Given the description of an element on the screen output the (x, y) to click on. 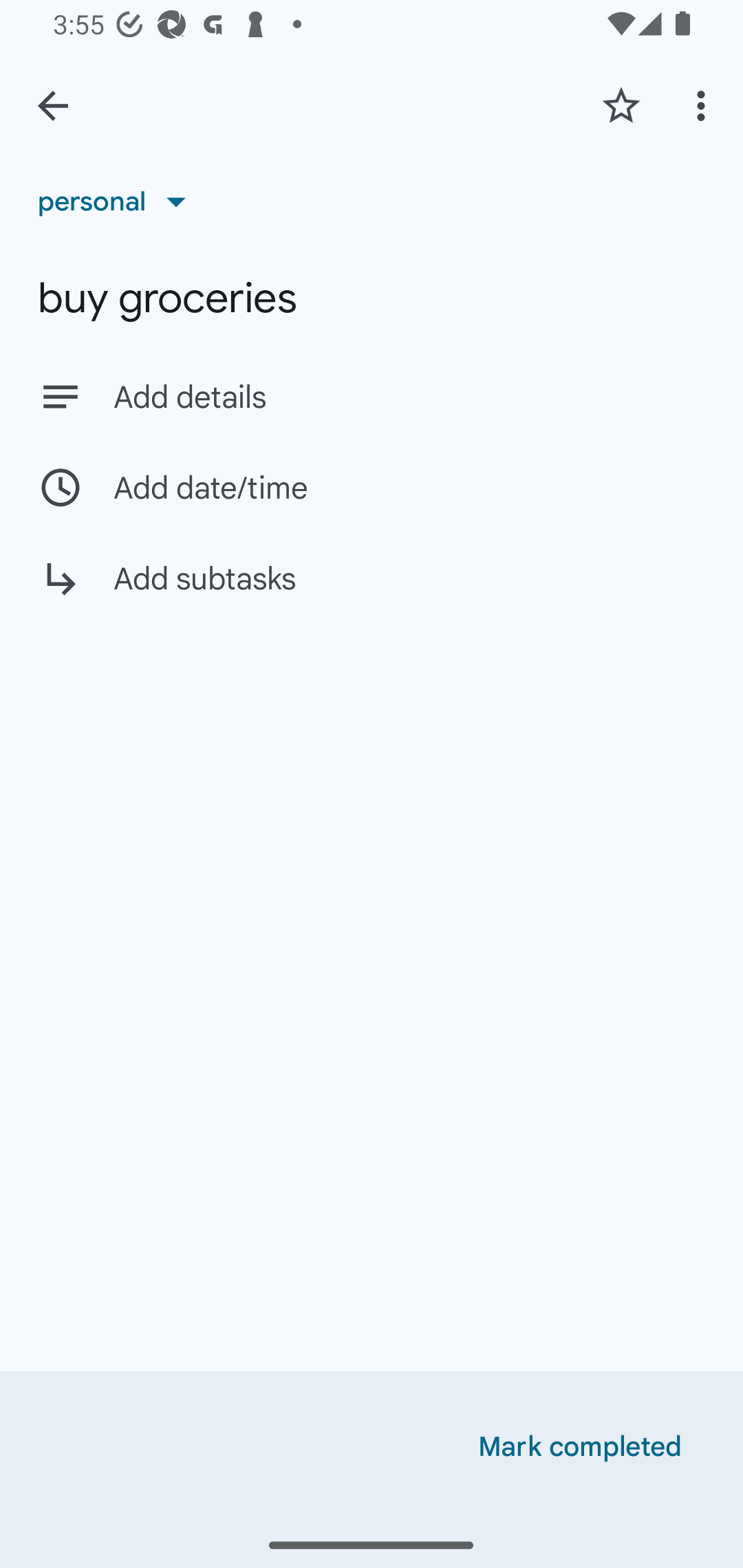
Back (53, 105)
Add star (620, 105)
More options (704, 105)
personal List, personal selected, 1 of 11 (118, 201)
buy groceries (371, 298)
Add details (371, 396)
Add details (409, 397)
Add date/time (371, 487)
Add subtasks (371, 593)
Mark completed (580, 1446)
